Given the description of an element on the screen output the (x, y) to click on. 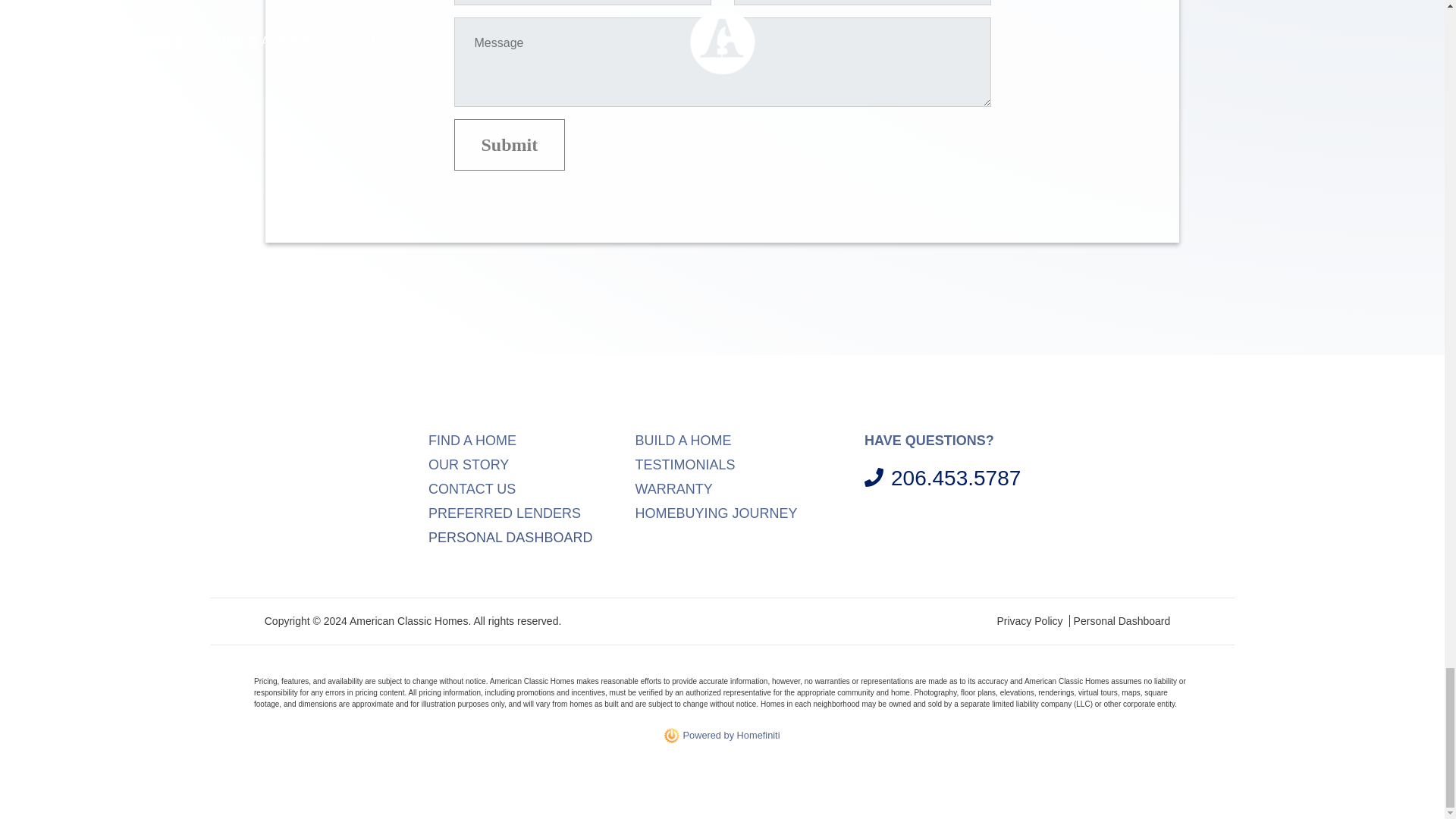
PERSONAL DASHBOARD (531, 537)
HOMEBUYING JOURNEY (715, 513)
CONTACT US (471, 488)
OUR STORY (468, 464)
Call 206.453.5787 (942, 478)
TESTIMONIALS (684, 464)
Submit (508, 144)
FIND A HOME (472, 440)
BUILD A HOME (683, 440)
PREFERRED LENDERS (504, 513)
